Given the description of an element on the screen output the (x, y) to click on. 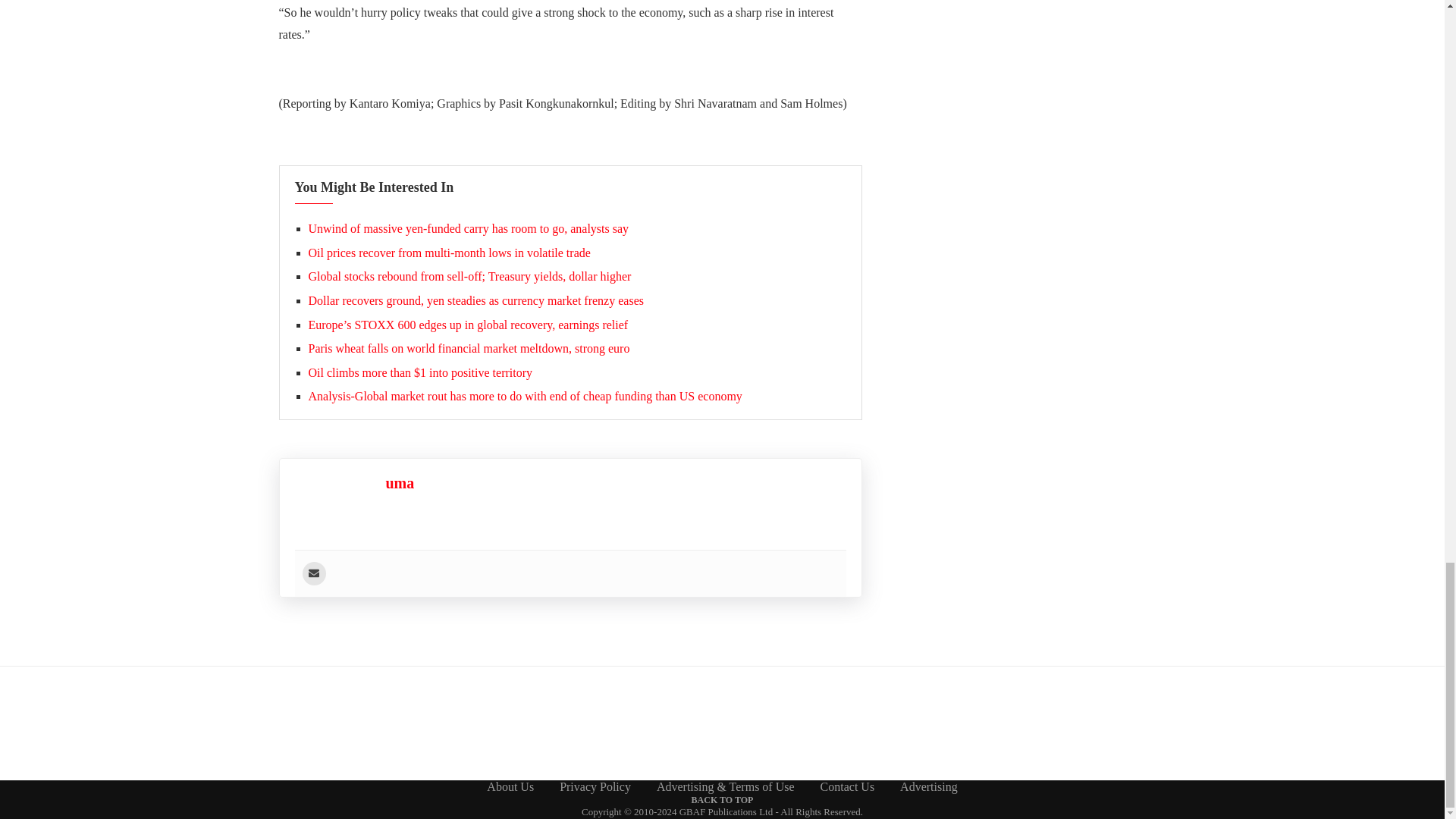
Advertising (928, 786)
Contact Us (848, 786)
About Us (510, 786)
Privacy Policy (594, 786)
BACK TO TOP (722, 798)
User email (312, 573)
